Given the description of an element on the screen output the (x, y) to click on. 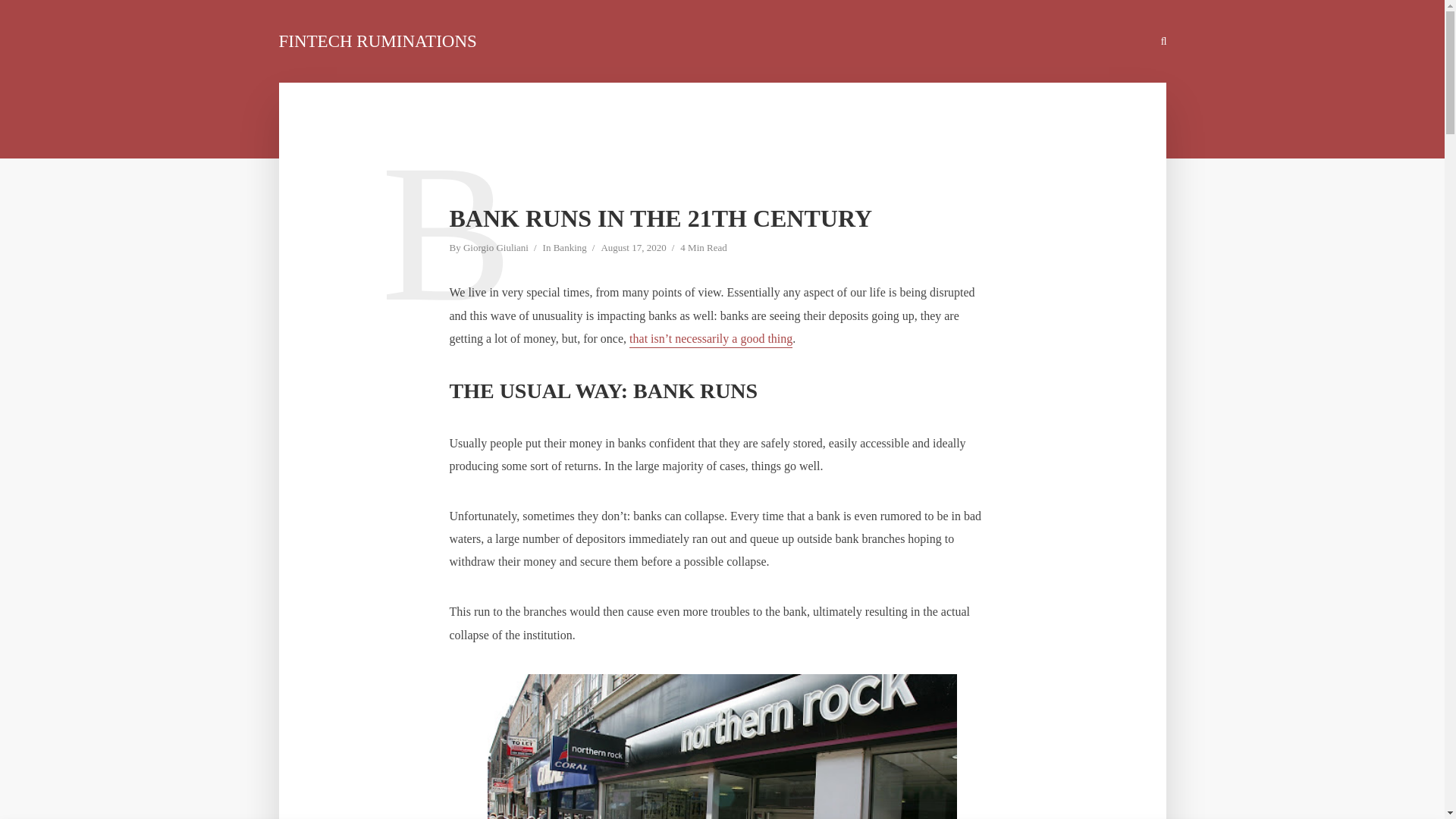
FINTECH RUMINATIONS (378, 40)
Banking (569, 248)
Giorgio Giuliani (495, 248)
